Given the description of an element on the screen output the (x, y) to click on. 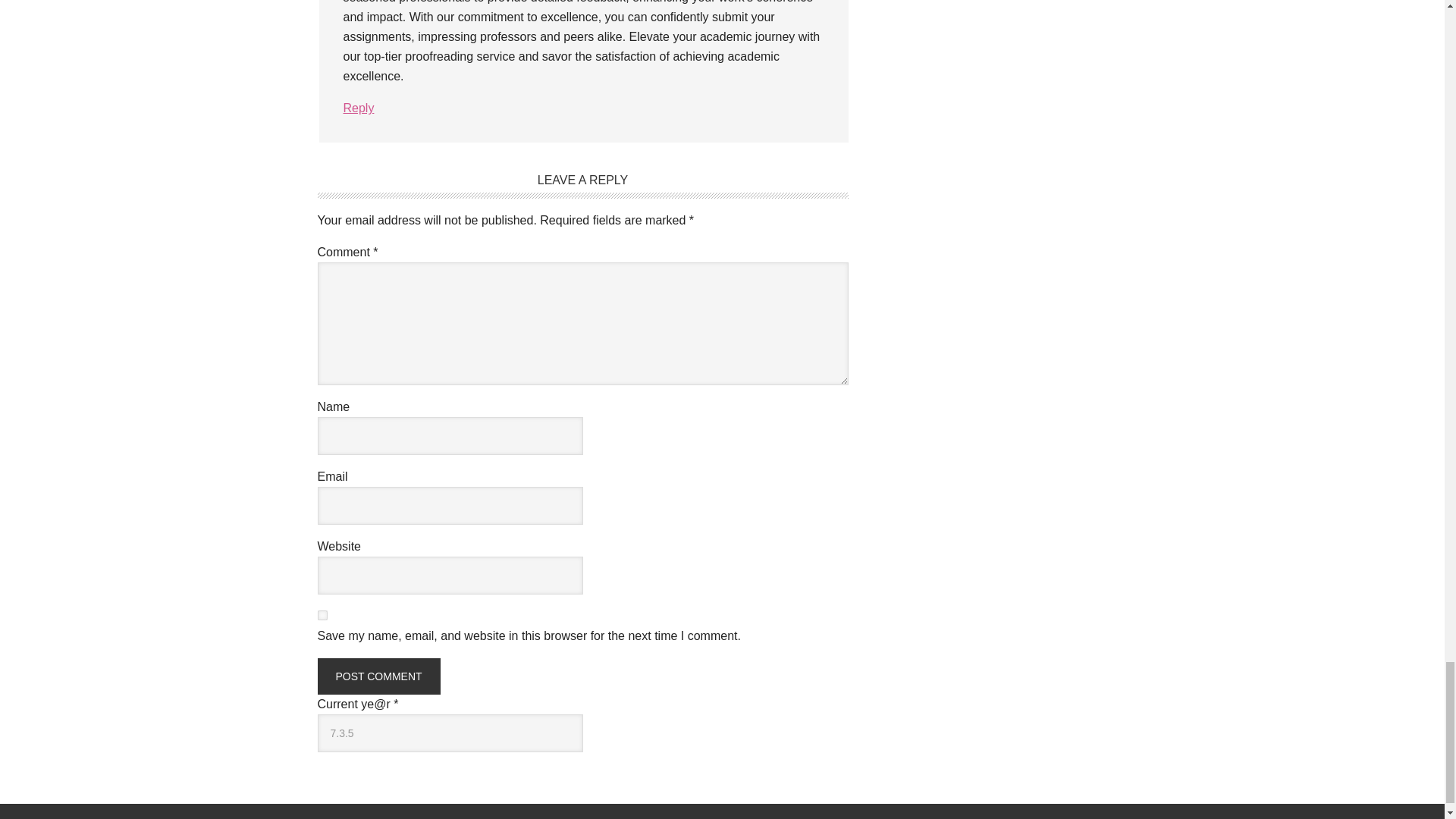
yes (321, 614)
Post Comment (378, 676)
7.3.5 (449, 733)
